Given the description of an element on the screen output the (x, y) to click on. 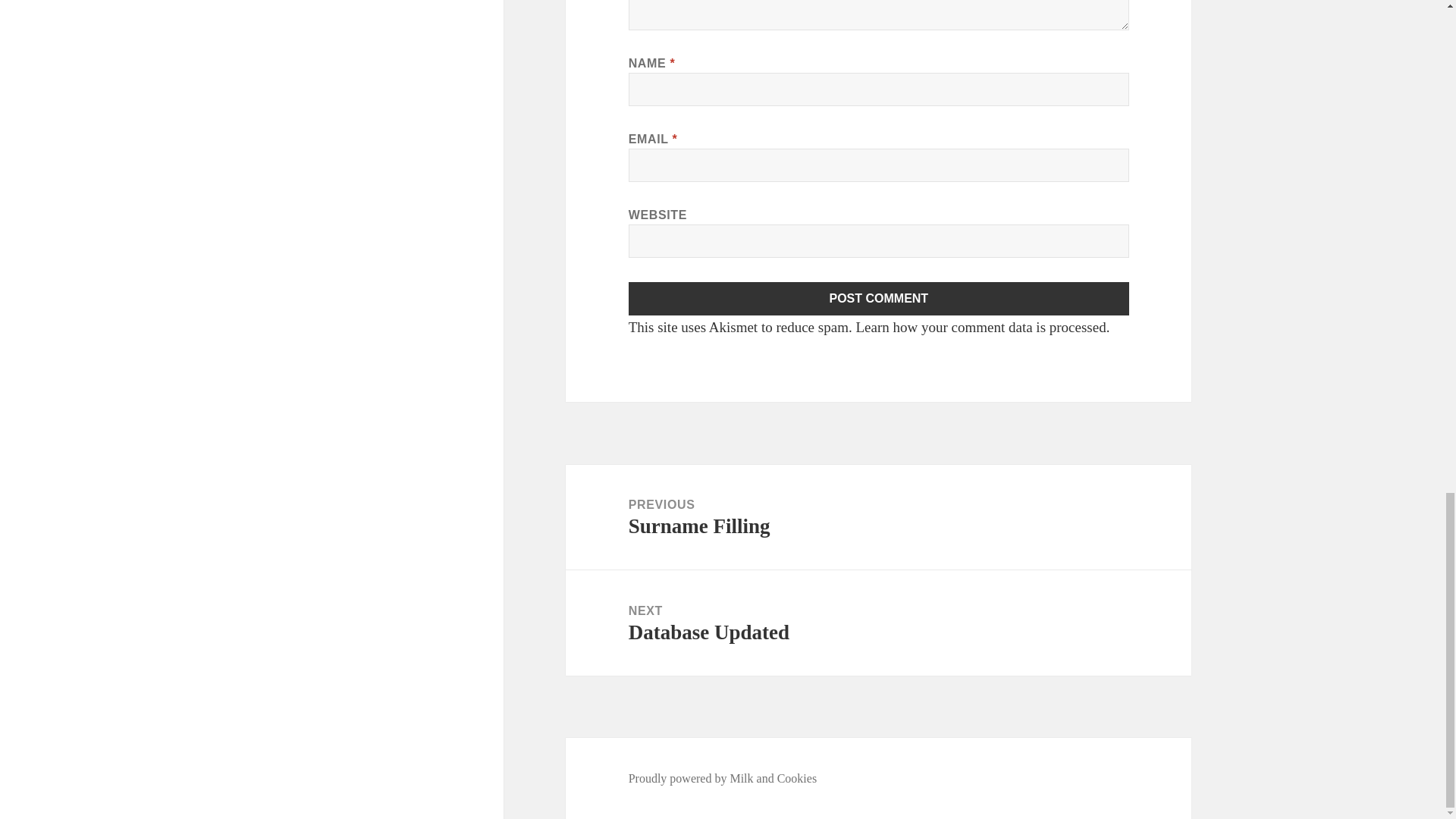
Post Comment (878, 298)
